Given the description of an element on the screen output the (x, y) to click on. 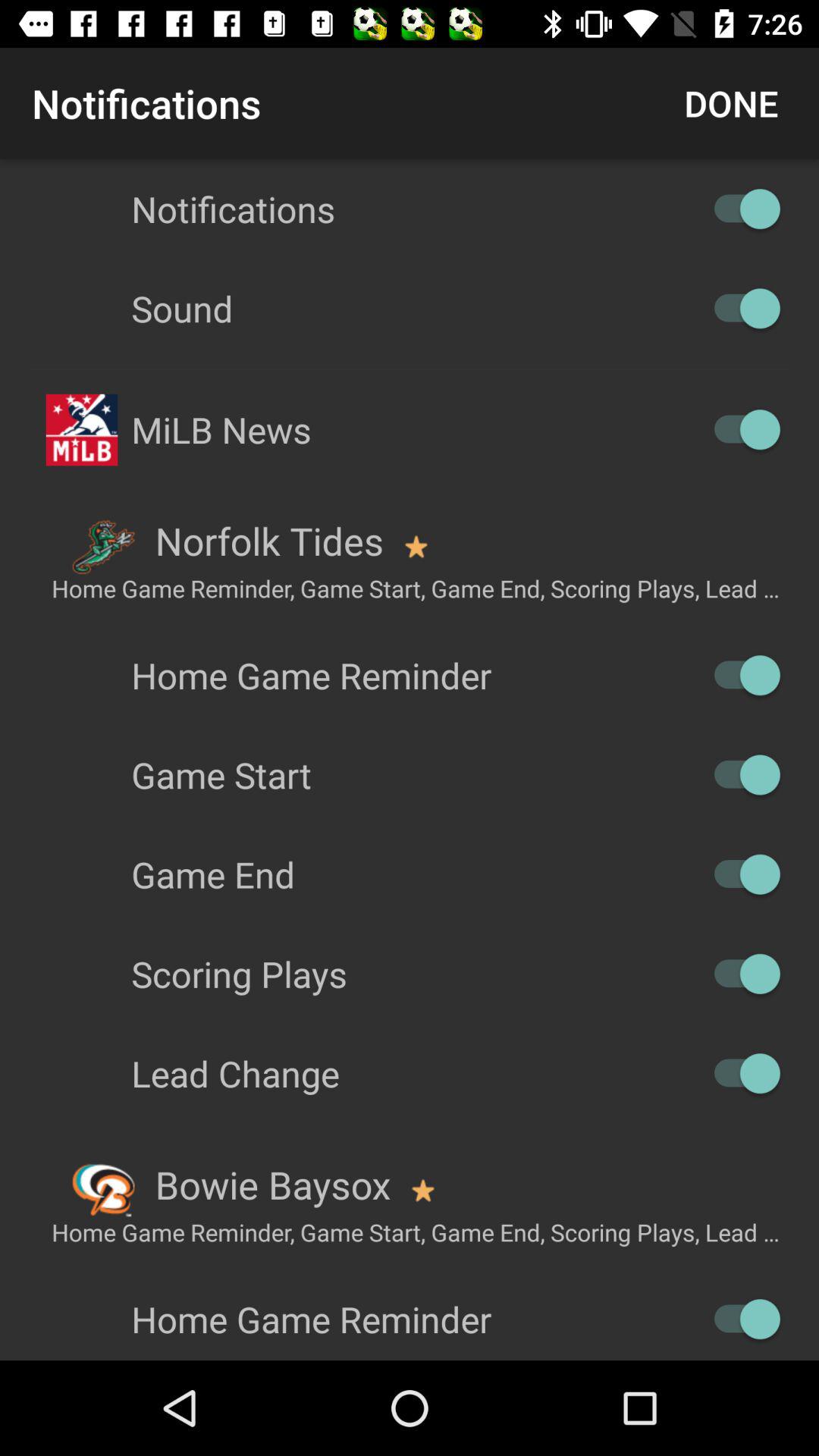
disable home game reminder (739, 675)
